Given the description of an element on the screen output the (x, y) to click on. 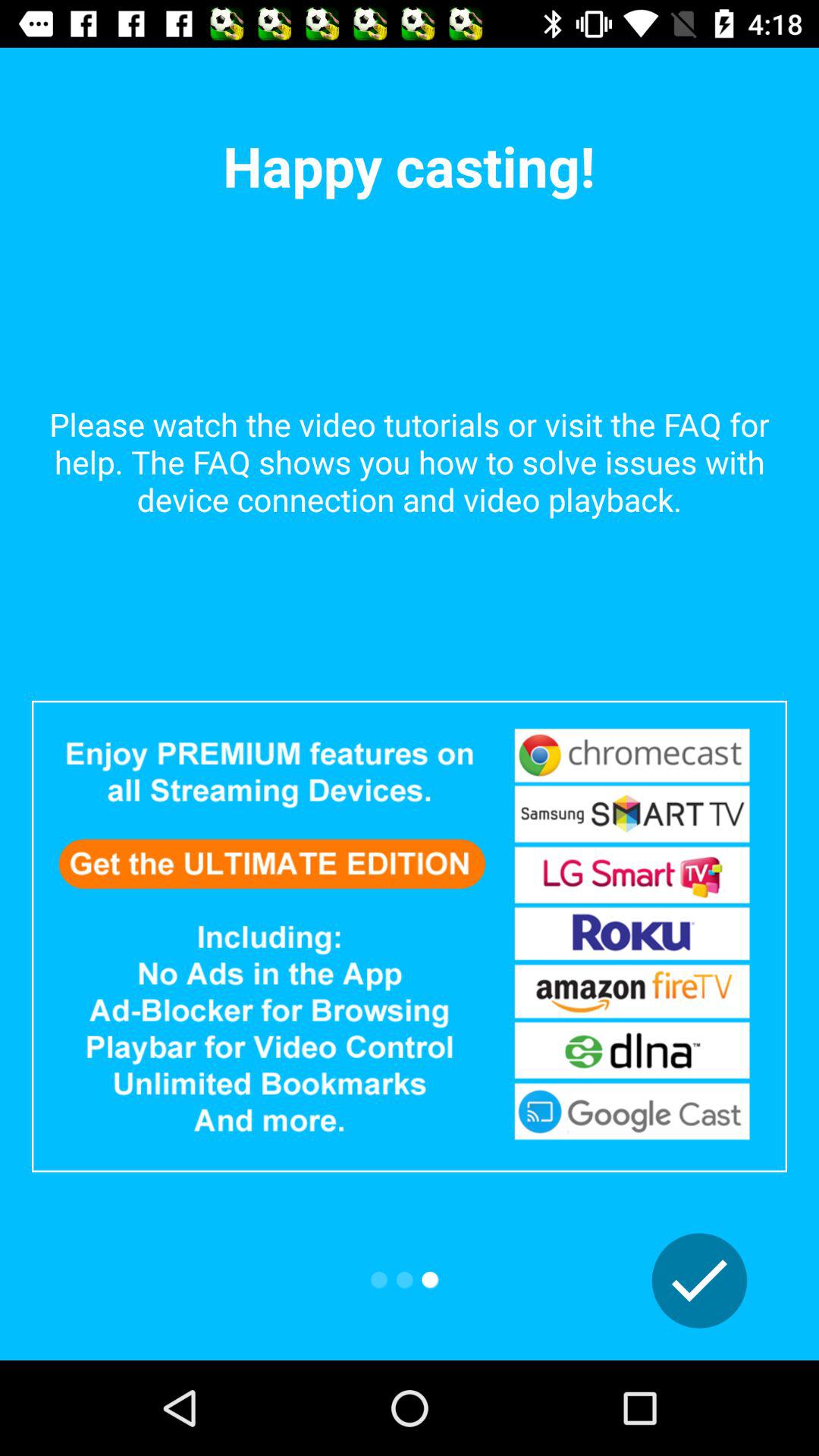
check as read (699, 1280)
